Given the description of an element on the screen output the (x, y) to click on. 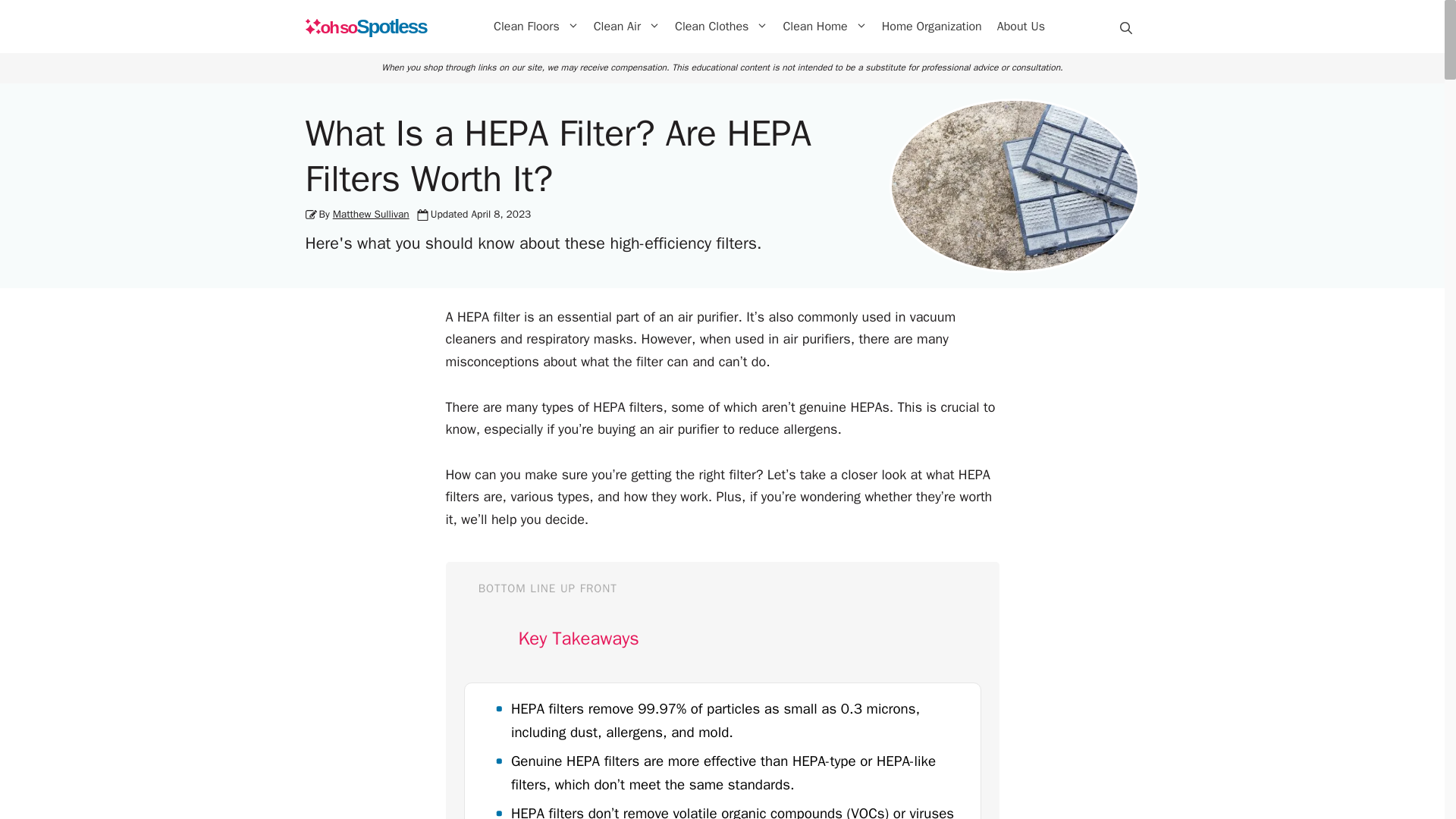
About Us (1021, 26)
Clean Clothes (720, 26)
Oh So Spotless (365, 27)
Home Organization (932, 26)
Clean Home (823, 26)
Clean Floors (536, 26)
Matthew Sullivan (371, 214)
Clean Air (626, 26)
